Given the description of an element on the screen output the (x, y) to click on. 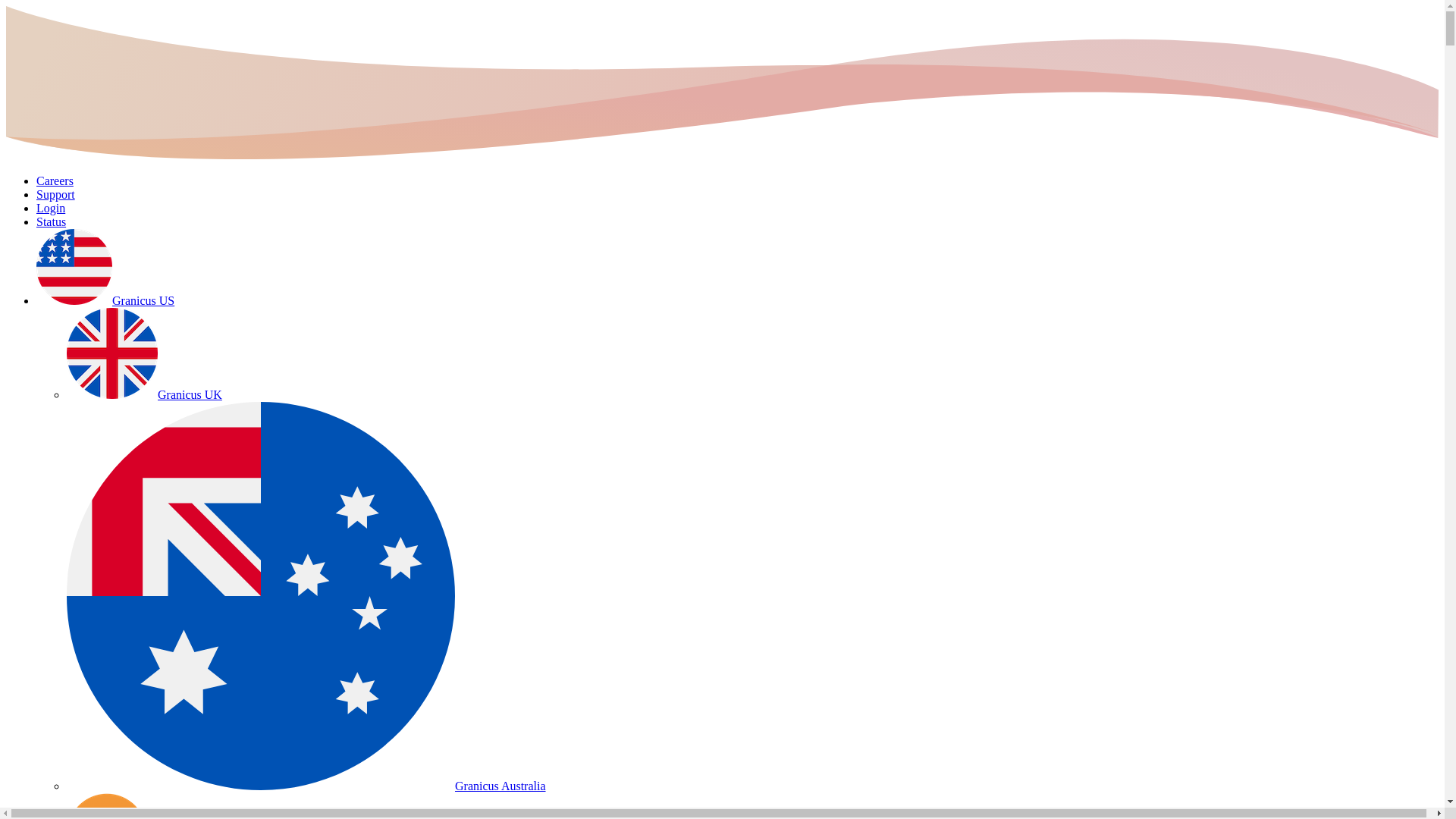
Careers Element type: text (54, 180)
Granicus US Element type: text (105, 300)
Status Element type: text (50, 221)
Granicus Australia Element type: text (306, 785)
Support Element type: text (55, 194)
Login Element type: text (50, 207)
Granicus UK Element type: text (144, 394)
